Given the description of an element on the screen output the (x, y) to click on. 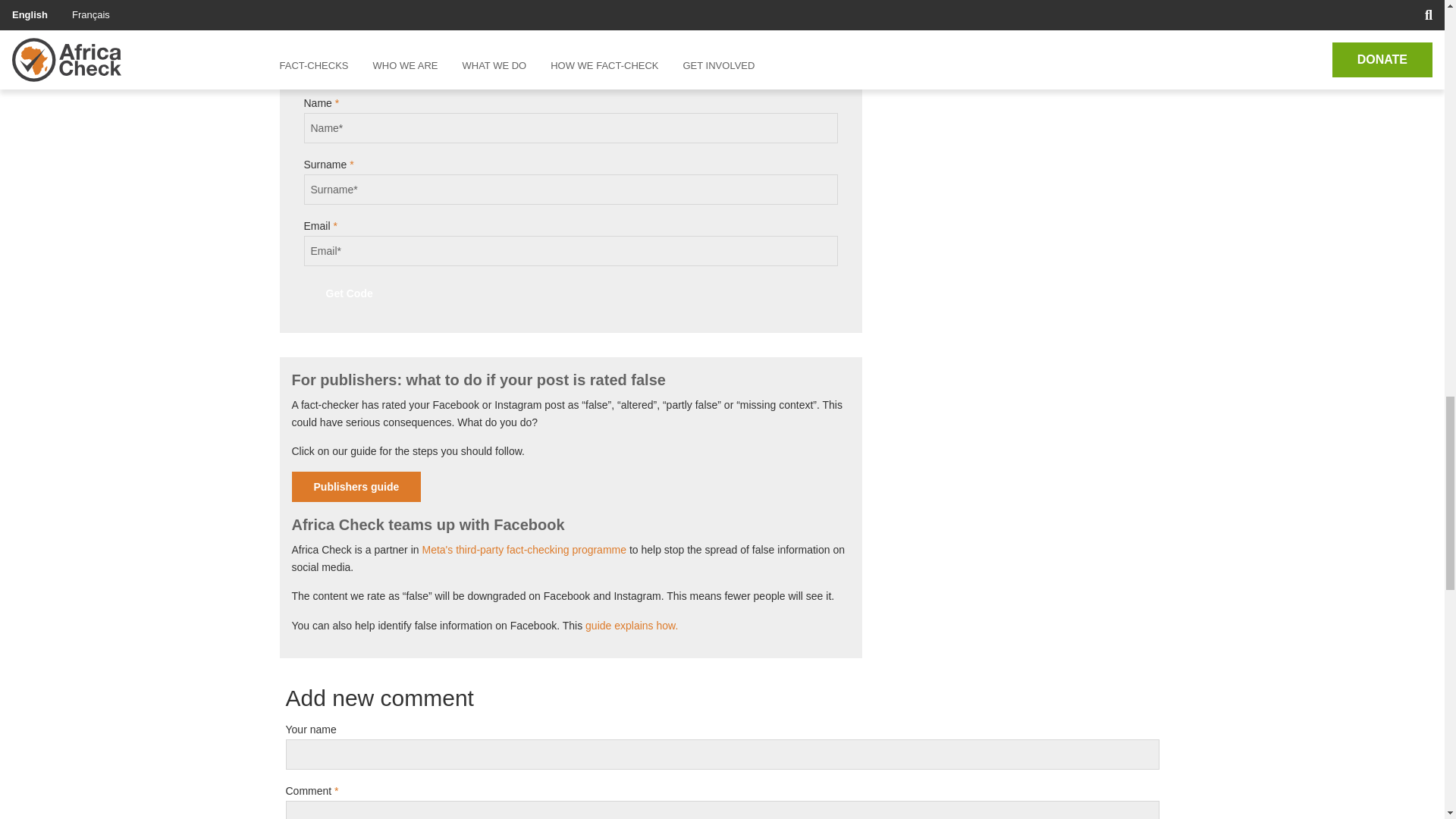
Get Code (348, 293)
